Given the description of an element on the screen output the (x, y) to click on. 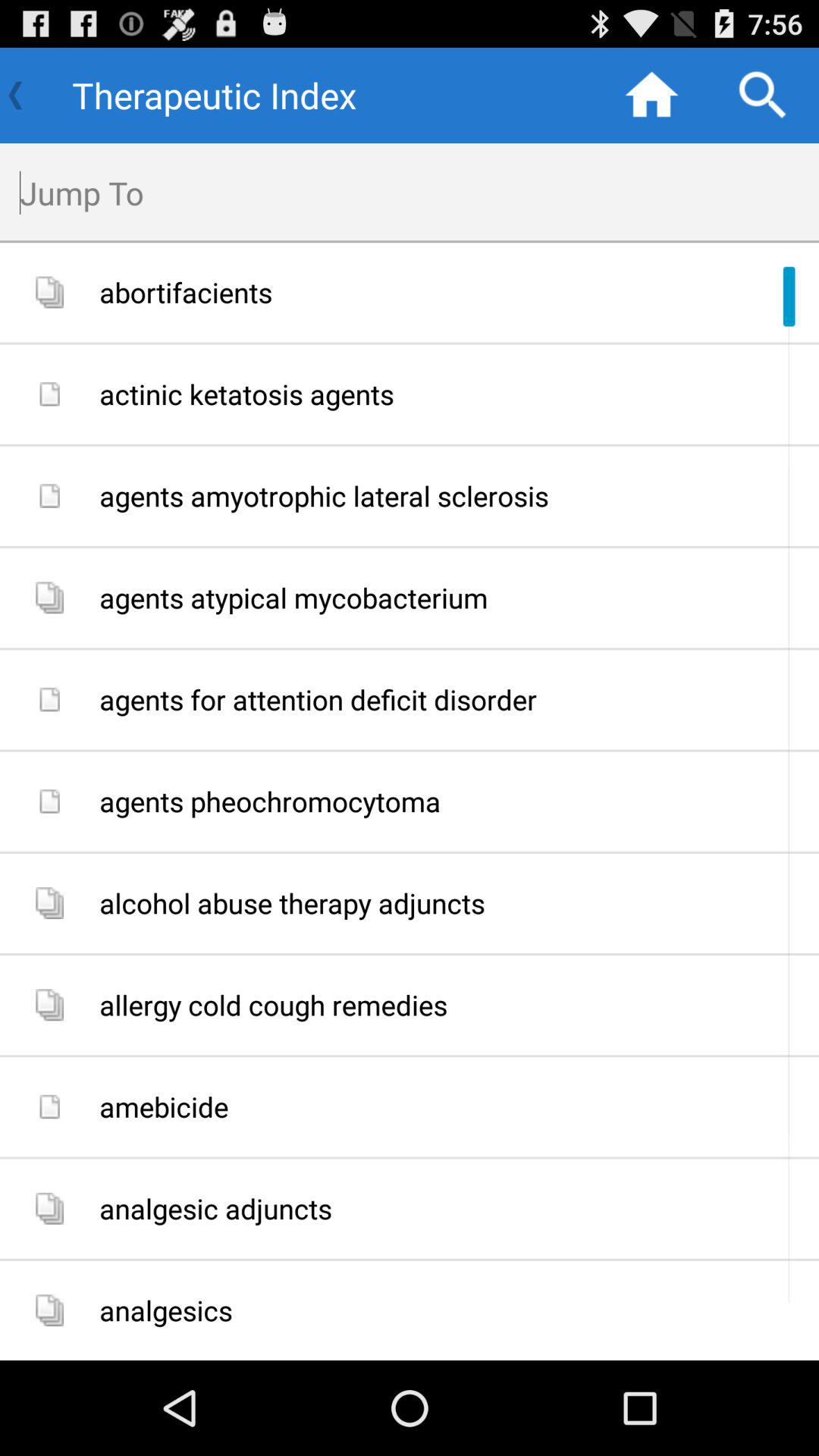
press amebicide icon (453, 1106)
